Given the description of an element on the screen output the (x, y) to click on. 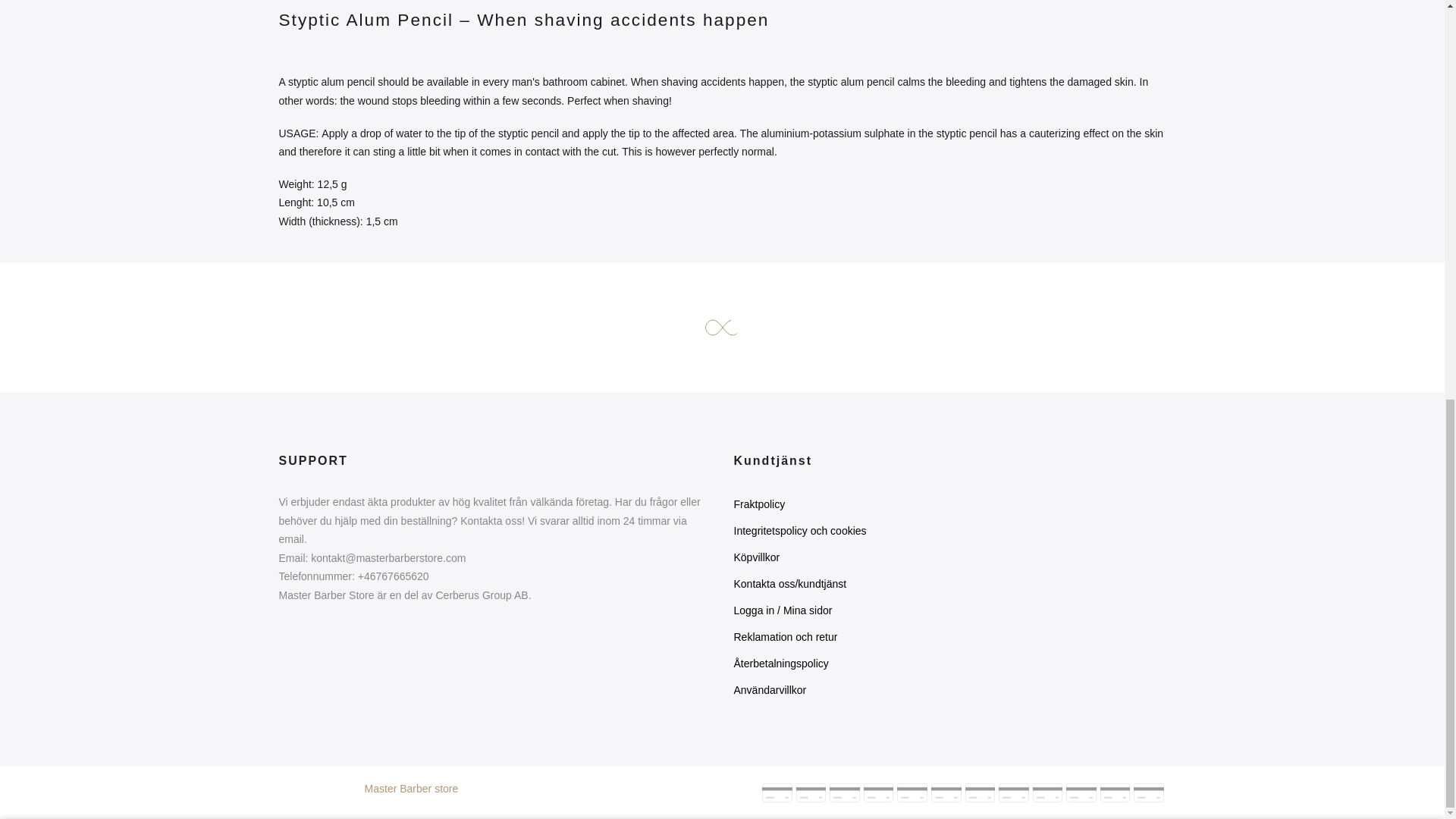
Reklamation och retur (785, 636)
Fraktpolicy (759, 503)
Integritetspolicy och cookies (799, 530)
1 (949, 75)
